Given the description of an element on the screen output the (x, y) to click on. 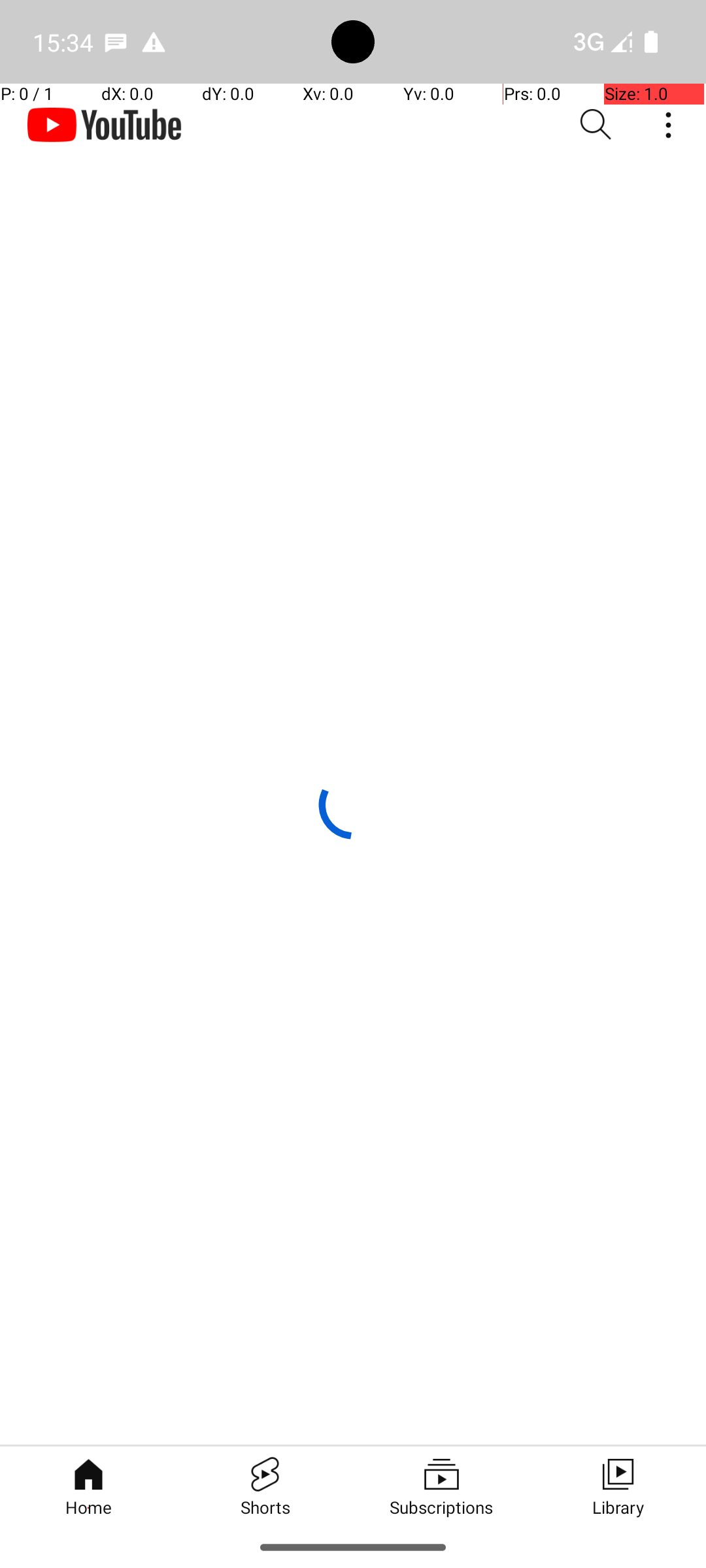
Shorts Element type: android.widget.Button (264, 1485)
Subscriptions Element type: android.widget.Button (441, 1485)
Library Element type: android.widget.Button (617, 1485)
